Given the description of an element on the screen output the (x, y) to click on. 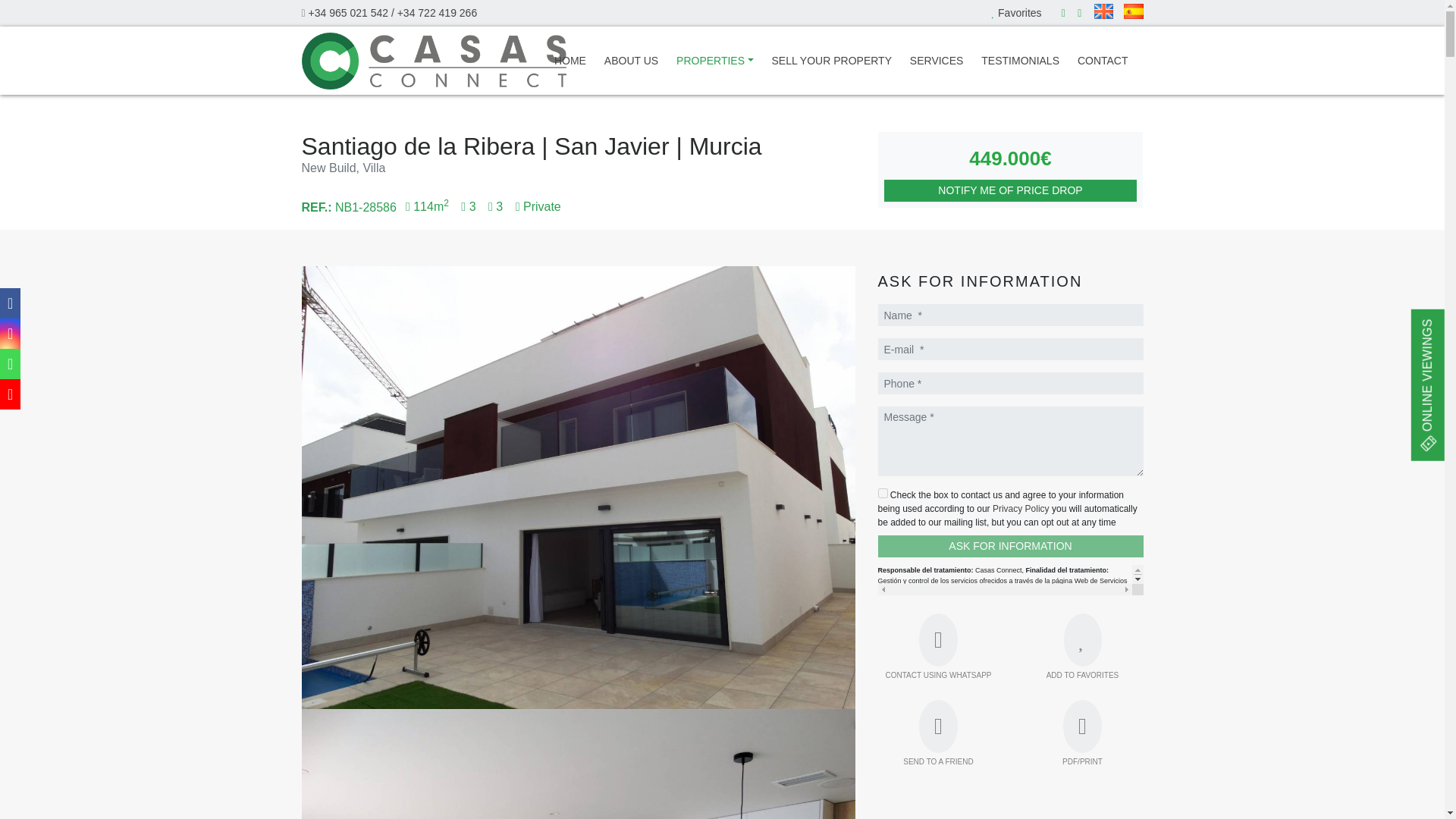
Ask for information (1009, 546)
CONTACT (1102, 60)
Casas-connect.es (433, 60)
on (882, 492)
Instagram (1079, 12)
TESTIMONIALS (1020, 60)
PROPERTIES (715, 60)
NOTIFY ME OF PRICE DROP (1010, 190)
ABOUT US (631, 60)
SERVICES (936, 60)
HOME (570, 60)
Favorites (1016, 12)
New Build - Villa - San Javier - Santiago de la Ribera (578, 764)
Facebook (1063, 12)
